Given the description of an element on the screen output the (x, y) to click on. 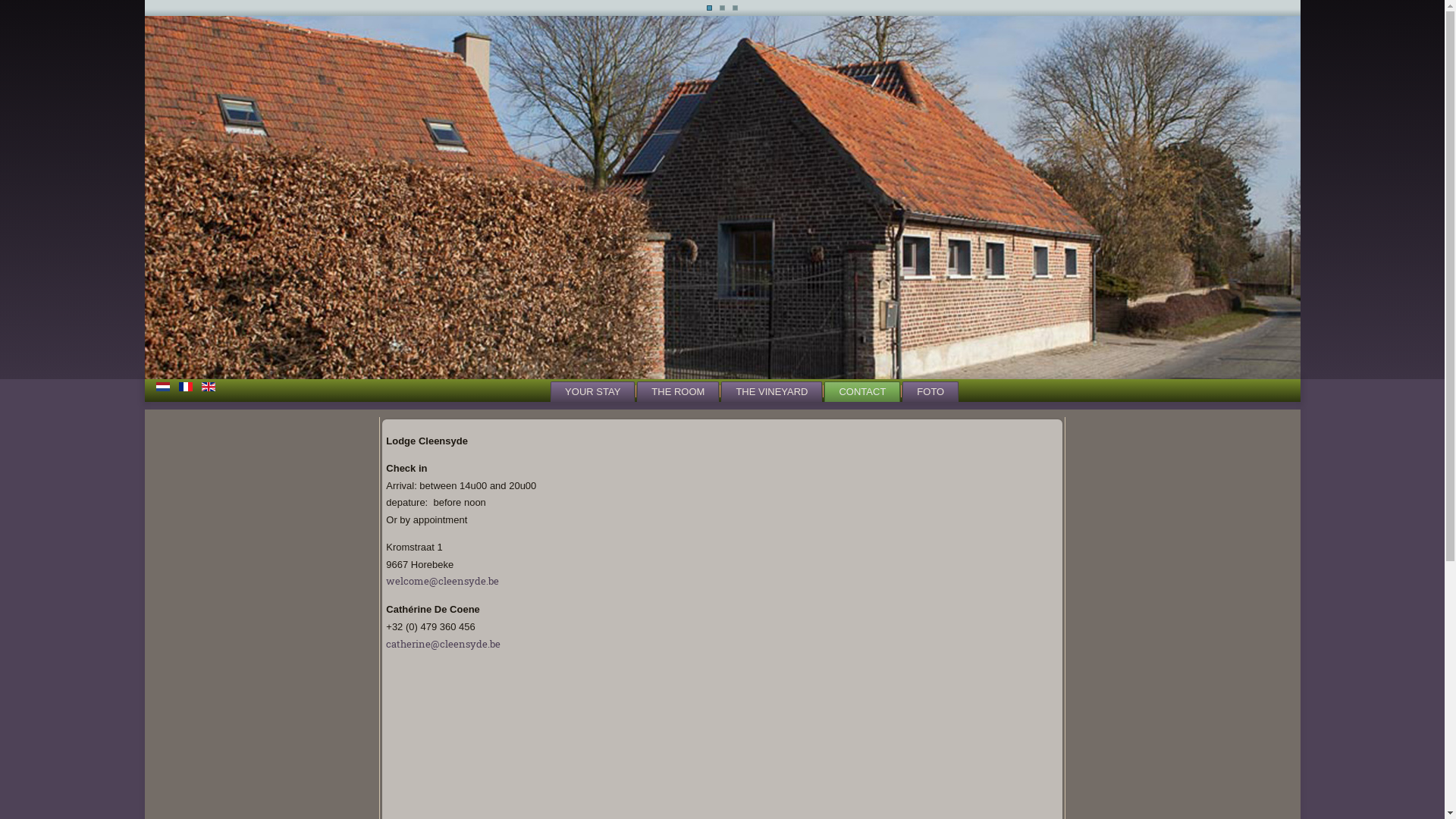
welcome@cleensyde.be Element type: text (441, 581)
CONTACT Element type: text (862, 391)
THE VINEYARD Element type: text (771, 391)
THE ROOM Element type: text (677, 391)
YOUR STAY Element type: text (592, 391)
catherine@cleensyde.be Element type: text (442, 644)
frans Element type: hover (185, 386)
FOTO Element type: text (930, 391)
Nederlands (NL) Element type: hover (162, 386)
English (UK) Element type: hover (208, 386)
